Given the description of an element on the screen output the (x, y) to click on. 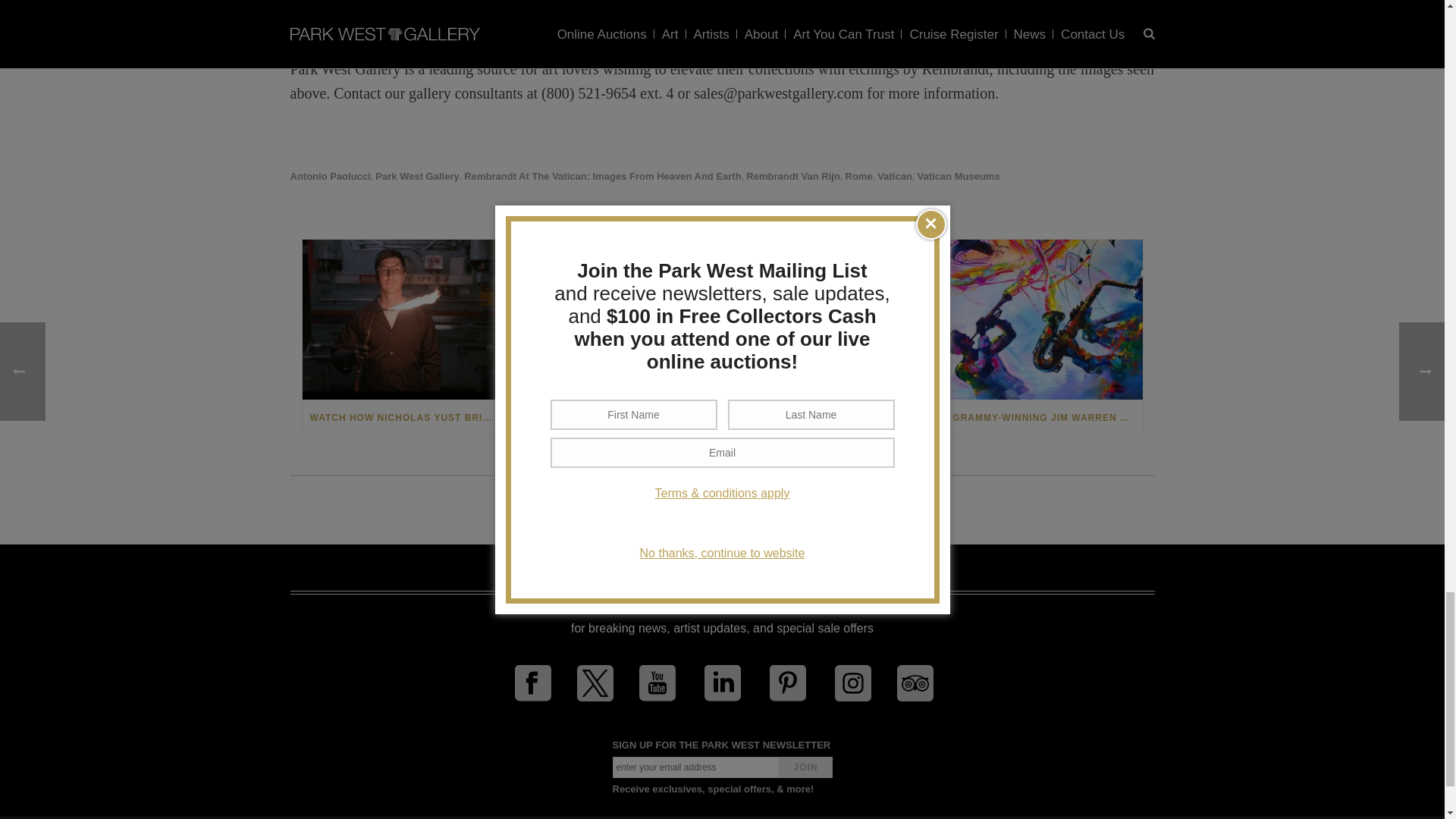
Join (805, 767)
